Given the description of an element on the screen output the (x, y) to click on. 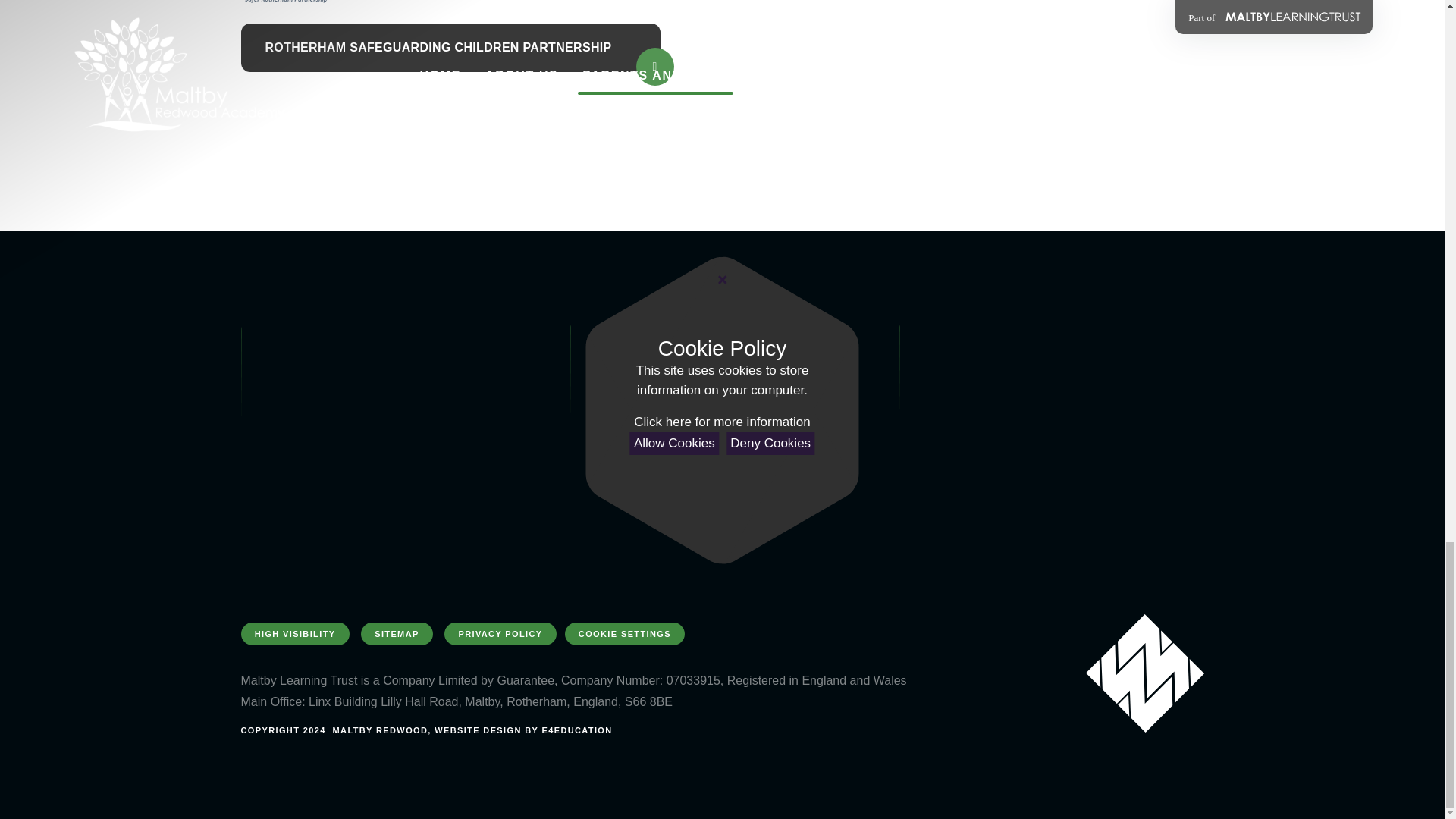
Cookie Settings (624, 633)
